Given the description of an element on the screen output the (x, y) to click on. 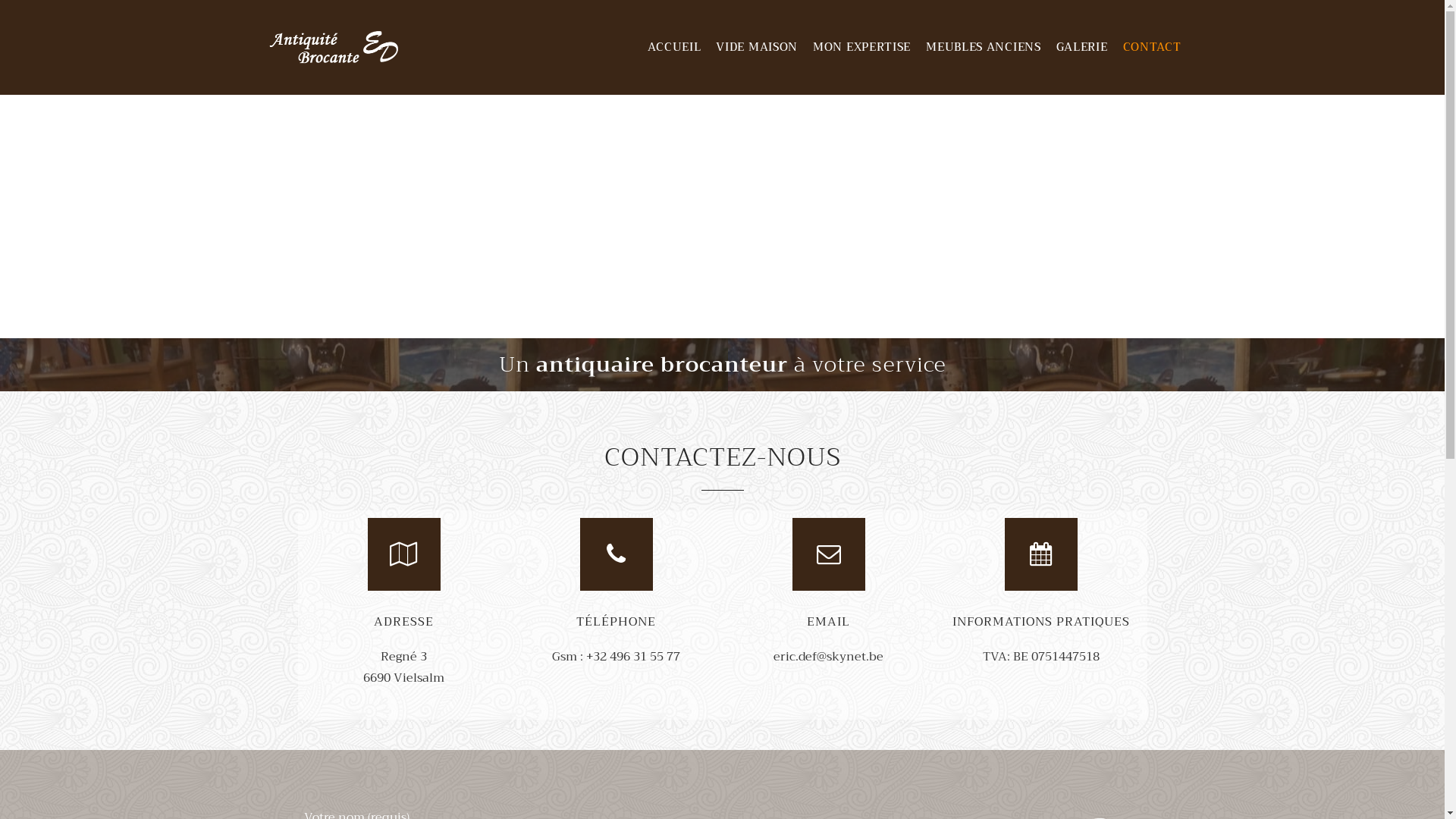
CONTACT Element type: text (1152, 47)
ACCUEIL Element type: text (674, 47)
MEUBLES ANCIENS Element type: text (983, 47)
GALERIE Element type: text (1081, 47)
MON EXPERTISE Element type: text (861, 47)
VIDE MAISON Element type: text (756, 47)
